Given the description of an element on the screen output the (x, y) to click on. 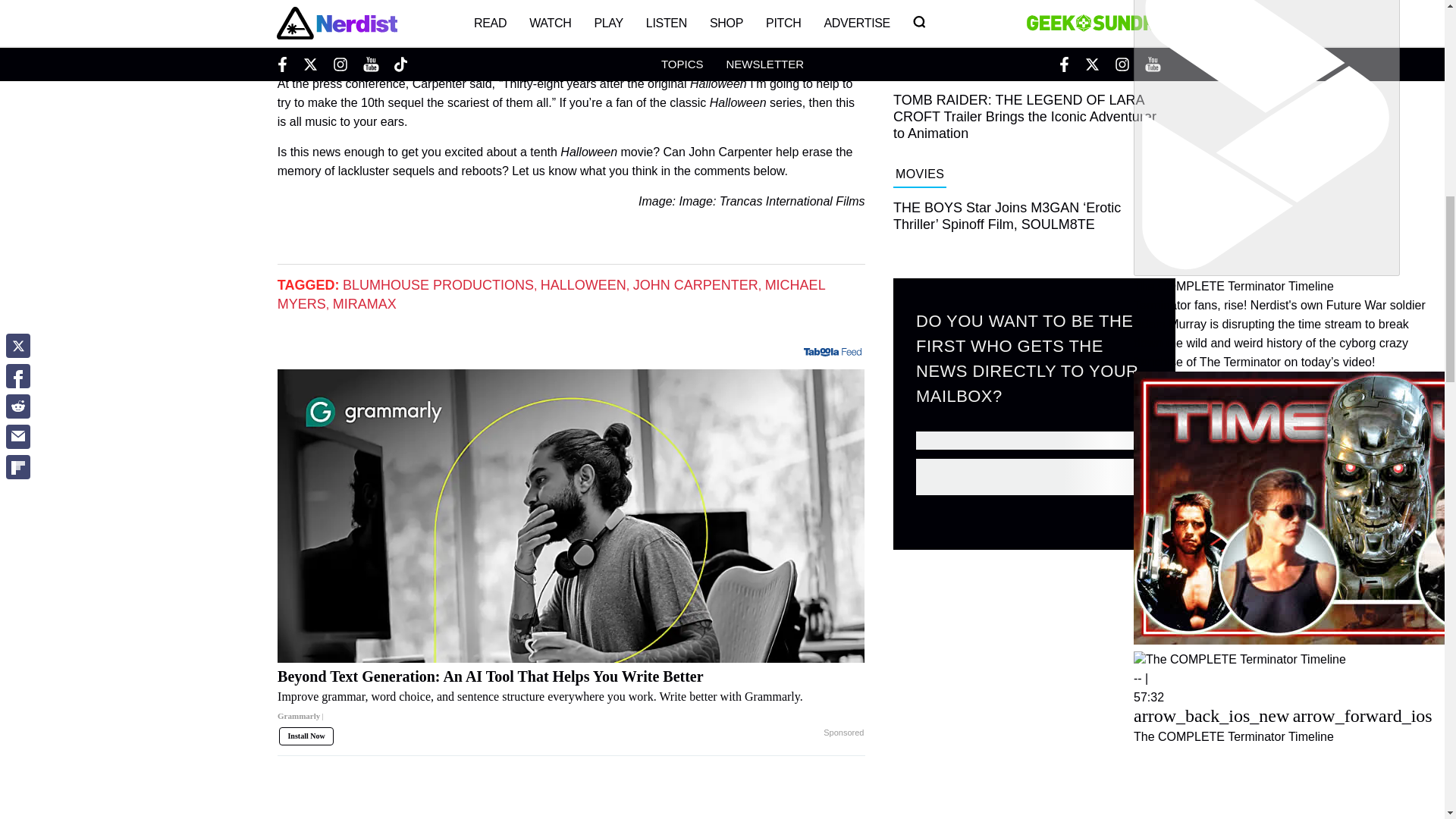
JOHN CARPENTER (695, 284)
MIRAMAX (364, 304)
MICHAEL MYERS (551, 294)
HALLOWEEN (583, 284)
BLUMHOUSE PRODUCTIONS (438, 284)
